Given the description of an element on the screen output the (x, y) to click on. 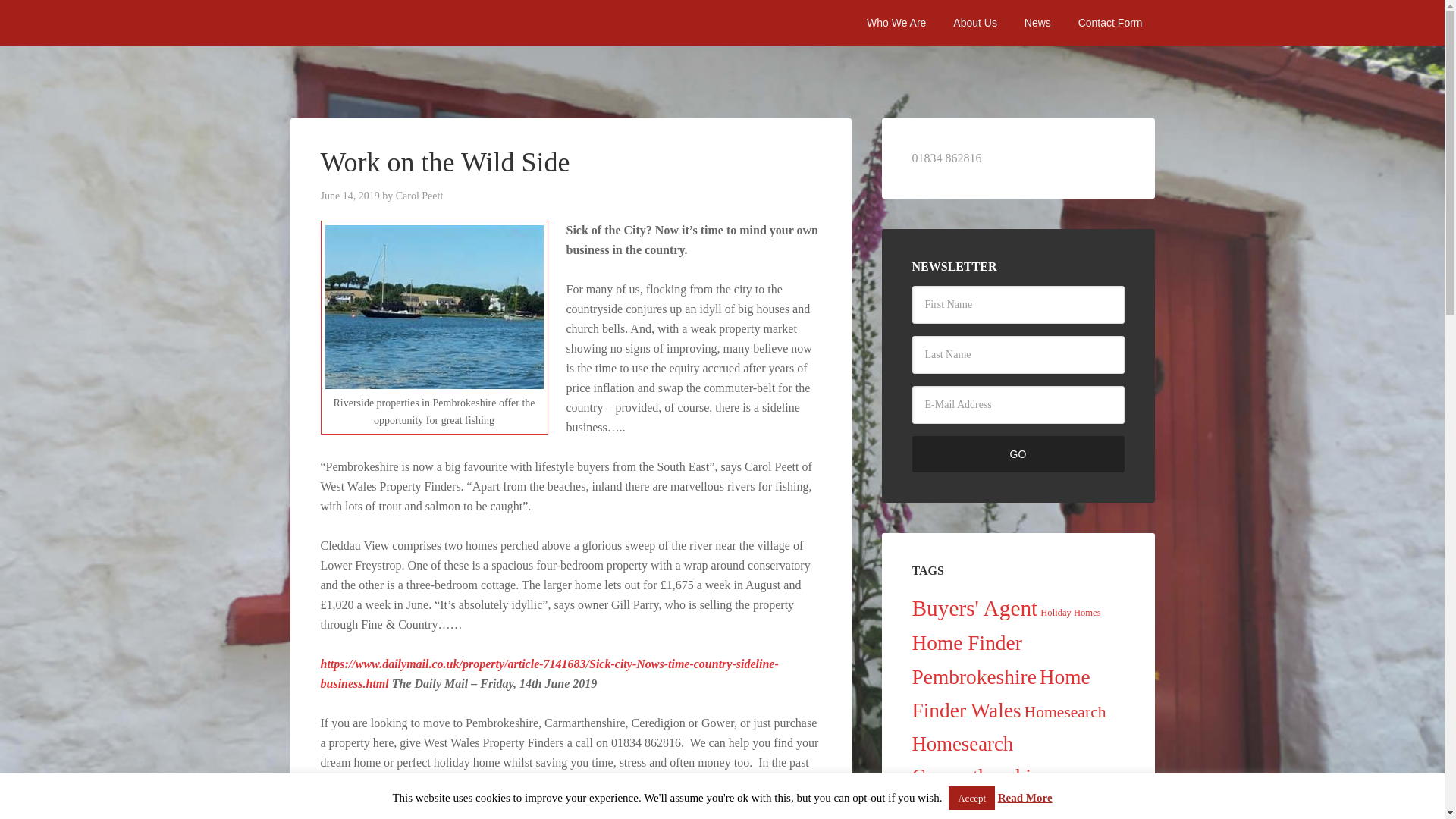
Who We Are (895, 22)
WEST WALES PROPERTY FINDERS (402, 22)
About Us (974, 22)
Go (1017, 453)
News (1036, 22)
Contact Form (1109, 22)
